Given the description of an element on the screen output the (x, y) to click on. 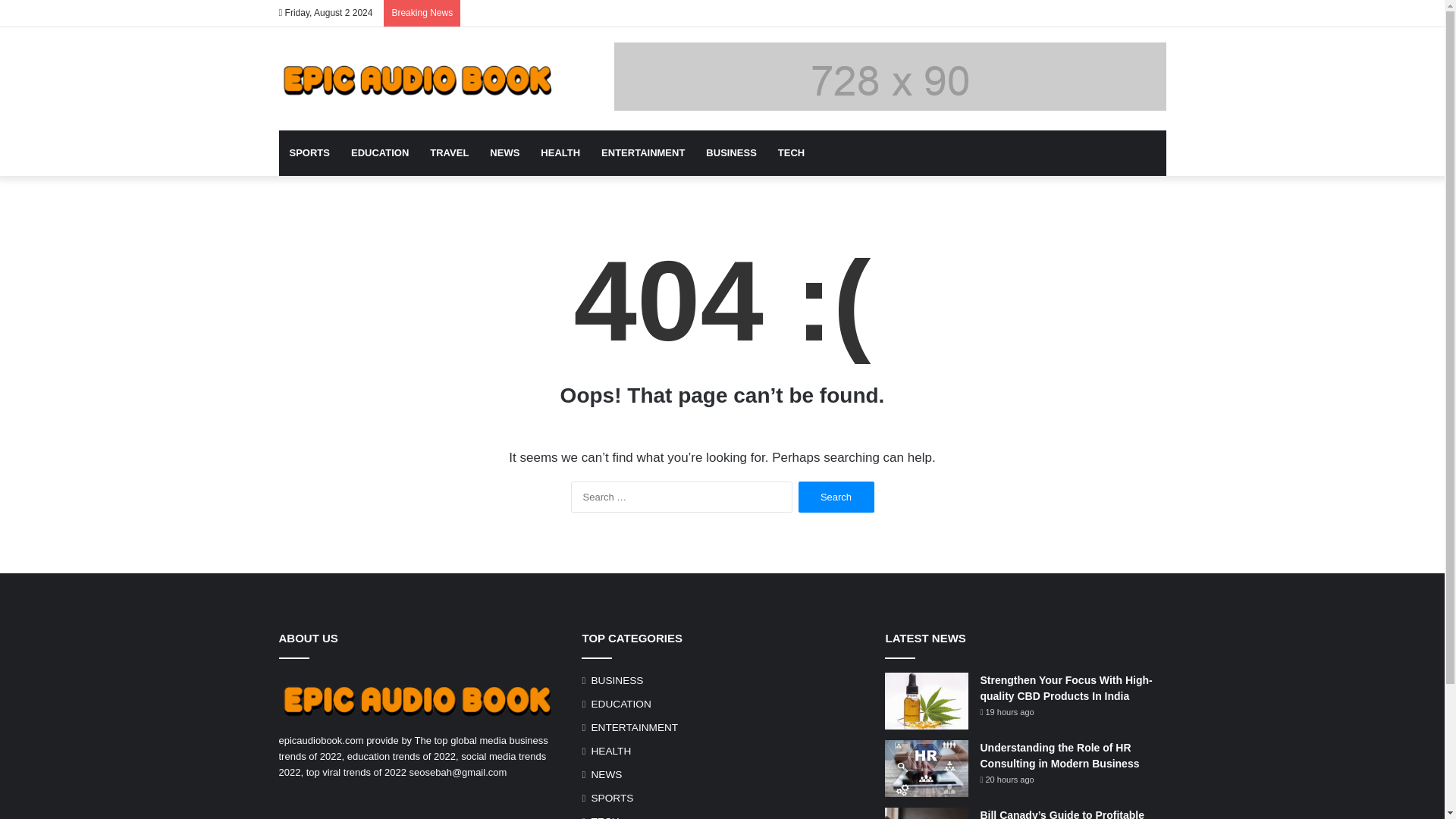
Search (835, 496)
Understanding the Role of HR Consulting in Modern Business (1058, 755)
HEALTH (560, 153)
BUSINESS (617, 680)
SPORTS (309, 153)
Search (835, 496)
BUSINESS (731, 153)
EDUCATION (379, 153)
ENTERTAINMENT (643, 153)
TECH (791, 153)
EDUCATION (620, 703)
SPORTS (612, 797)
Search (835, 496)
ENTERTAINMENT (634, 727)
TECH (604, 816)
